Given the description of an element on the screen output the (x, y) to click on. 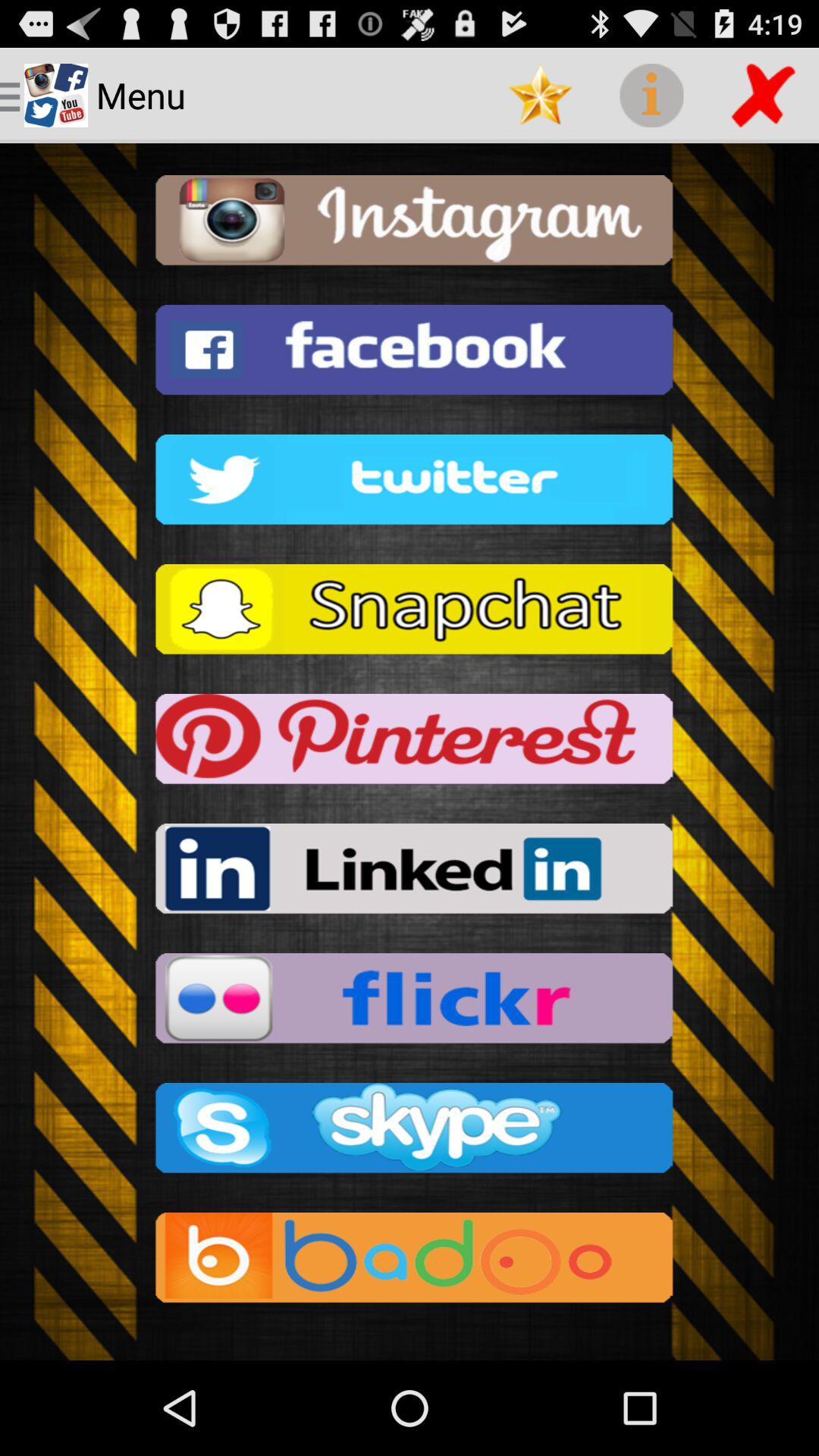
toggle facebook (409, 354)
